Given the description of an element on the screen output the (x, y) to click on. 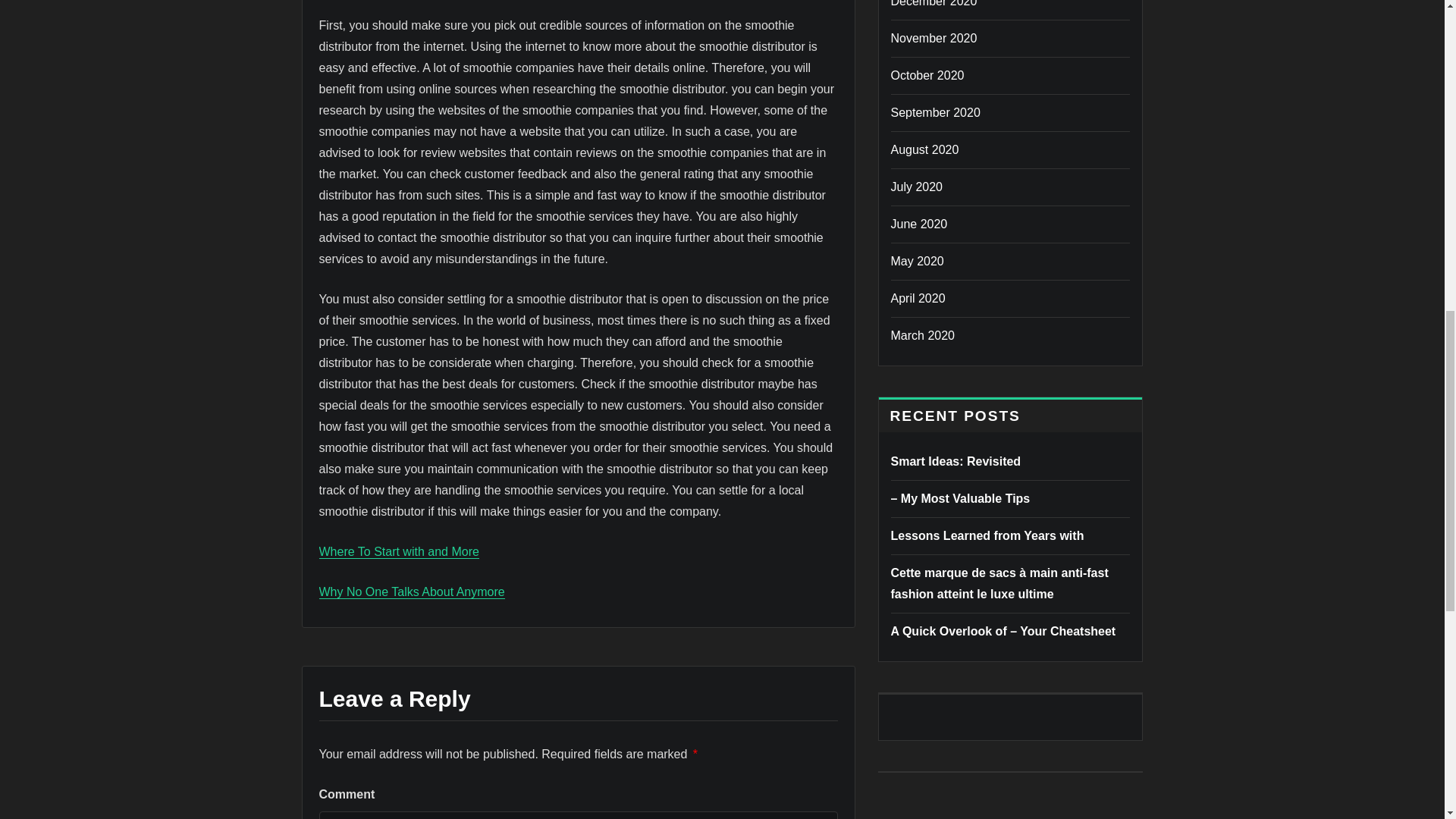
July 2020 (915, 186)
August 2020 (923, 149)
June 2020 (918, 223)
September 2020 (934, 112)
Why No One Talks About Anymore (410, 591)
Where To Start with and More (398, 551)
March 2020 (922, 335)
Smart Ideas: Revisited (954, 461)
October 2020 (926, 74)
April 2020 (916, 297)
December 2020 (932, 3)
May 2020 (916, 260)
November 2020 (932, 38)
